Given the description of an element on the screen output the (x, y) to click on. 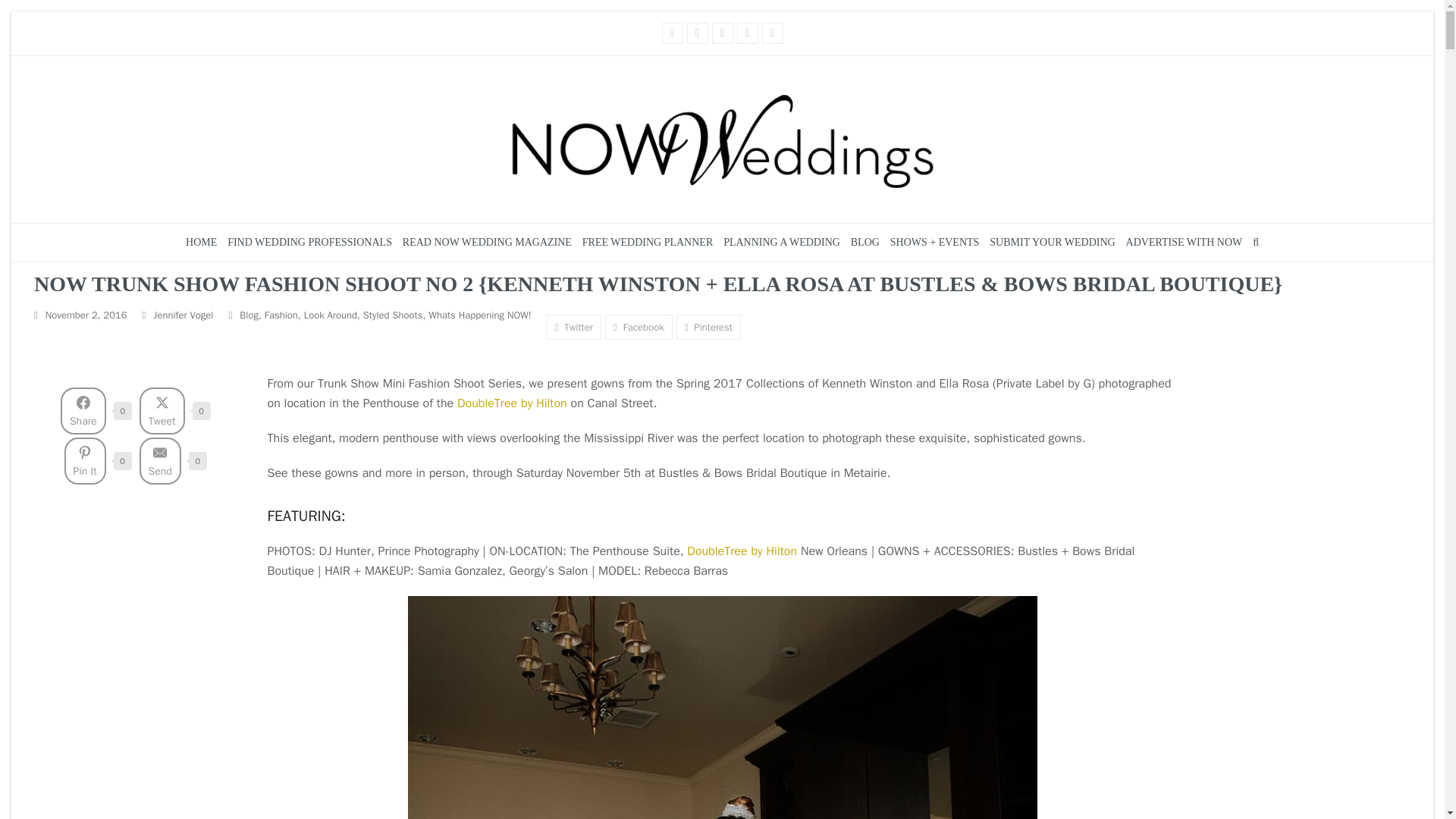
Styled Shoots (392, 314)
Blog (249, 314)
READ NOW WEDDING MAGAZINE (486, 242)
Facebook (671, 33)
Share on Share (83, 410)
FREE WEDDING PLANNER (647, 242)
Share on Tweet (161, 410)
BLOG (865, 242)
Posts by Jennifer Vogel (182, 314)
Email (747, 33)
